Given the description of an element on the screen output the (x, y) to click on. 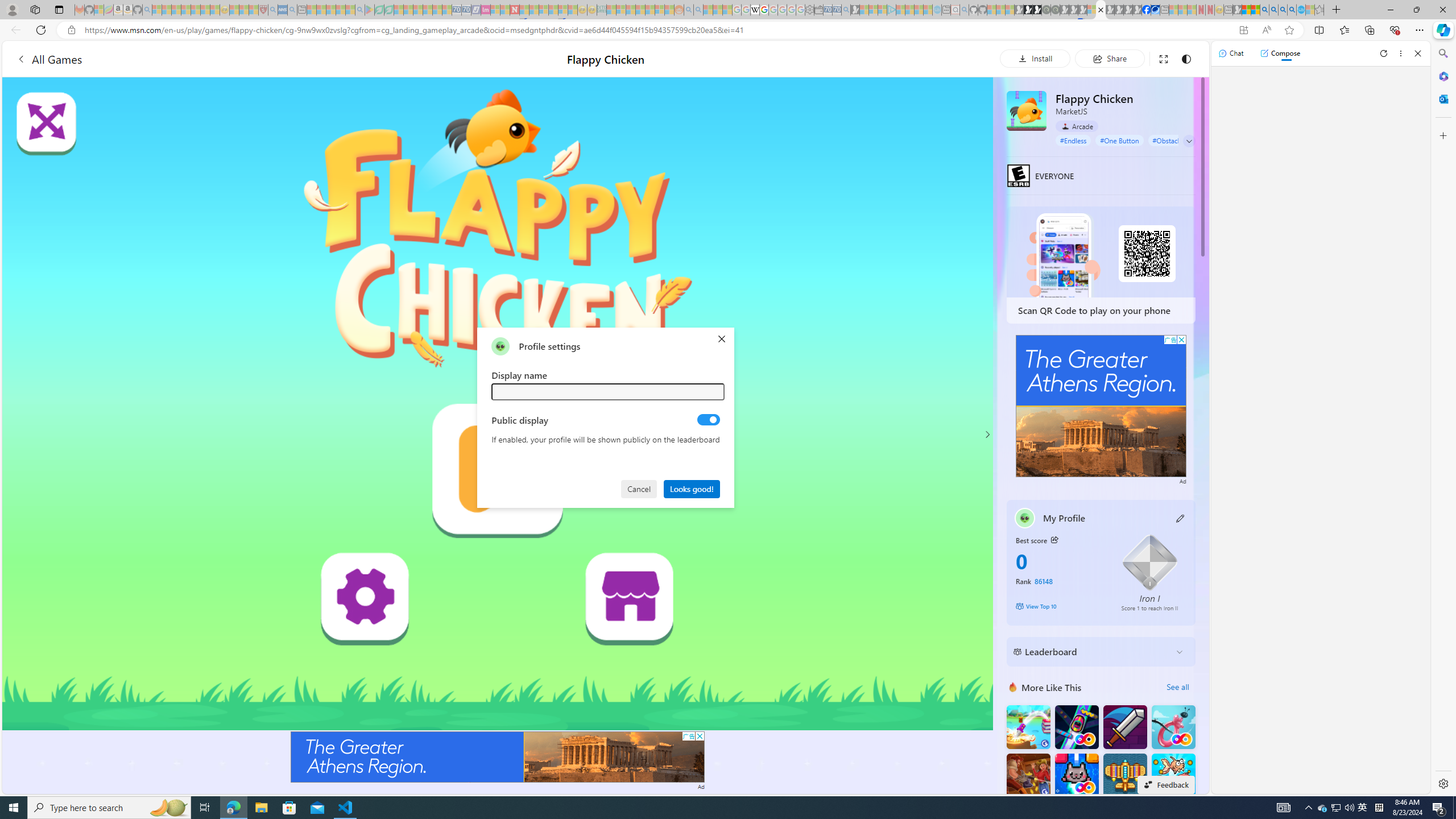
Arcade (1076, 126)
Class: text-input (608, 391)
""'s avatar (500, 345)
Cancel (639, 488)
See all (1177, 687)
